Given the description of an element on the screen output the (x, y) to click on. 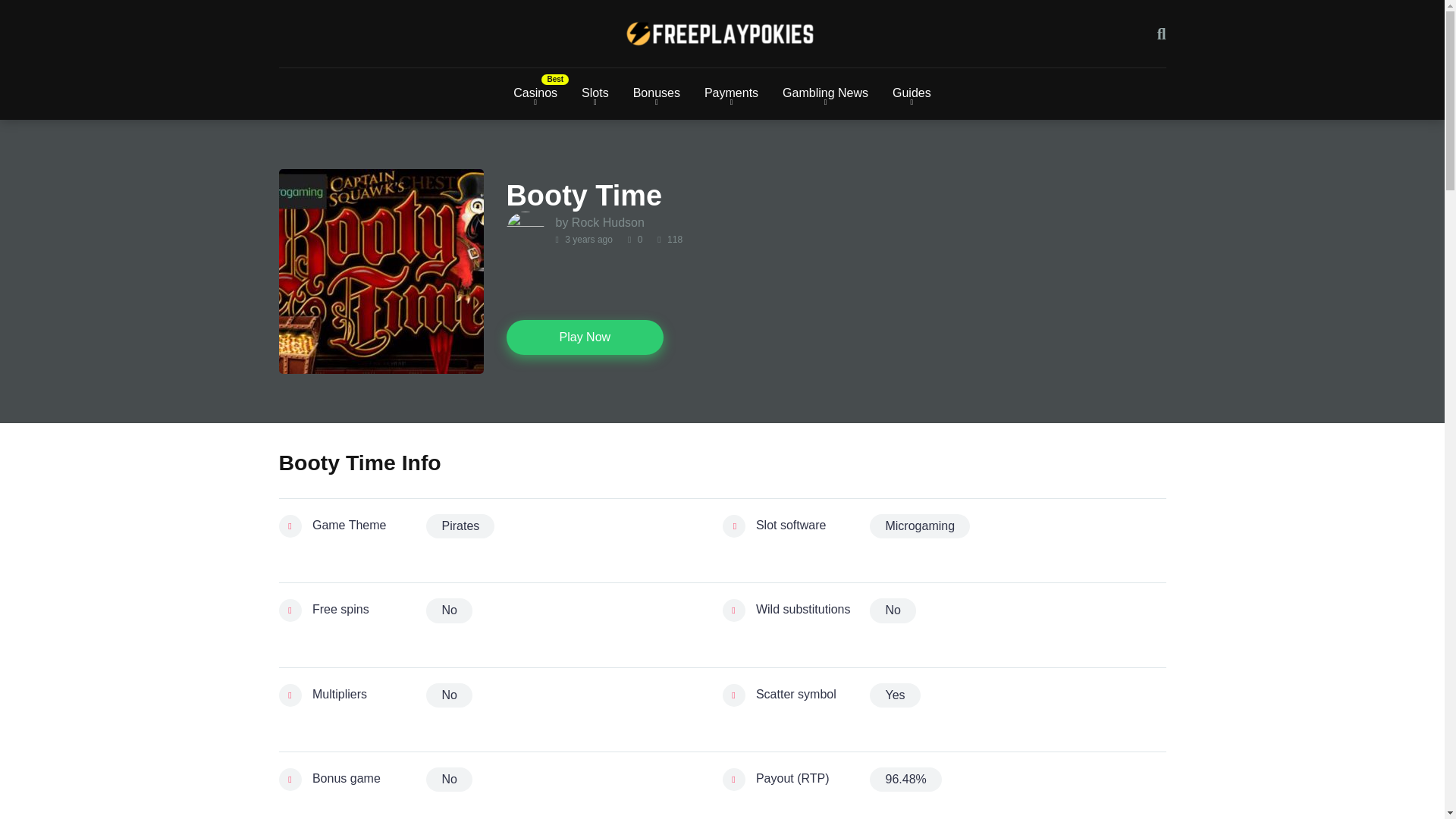
Casinos (534, 93)
Slots (595, 93)
Pirates (460, 526)
Posts by Rock Hudson (608, 222)
Microgaming (919, 526)
Bonuses (657, 93)
FreePlayPokies (722, 33)
Play Now (584, 337)
Payments (731, 93)
